Given the description of an element on the screen output the (x, y) to click on. 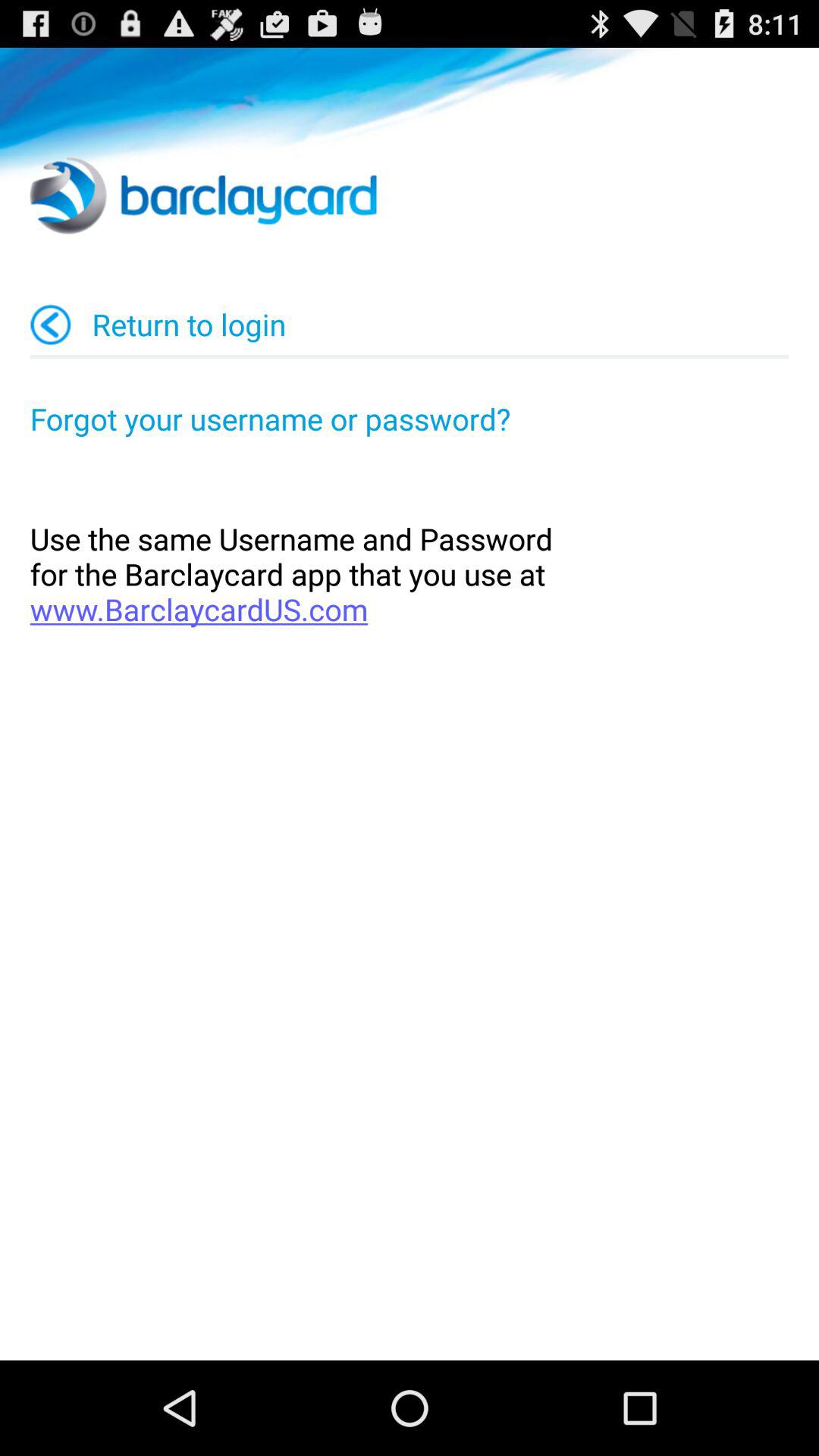
flip until the use the same app (409, 573)
